Given the description of an element on the screen output the (x, y) to click on. 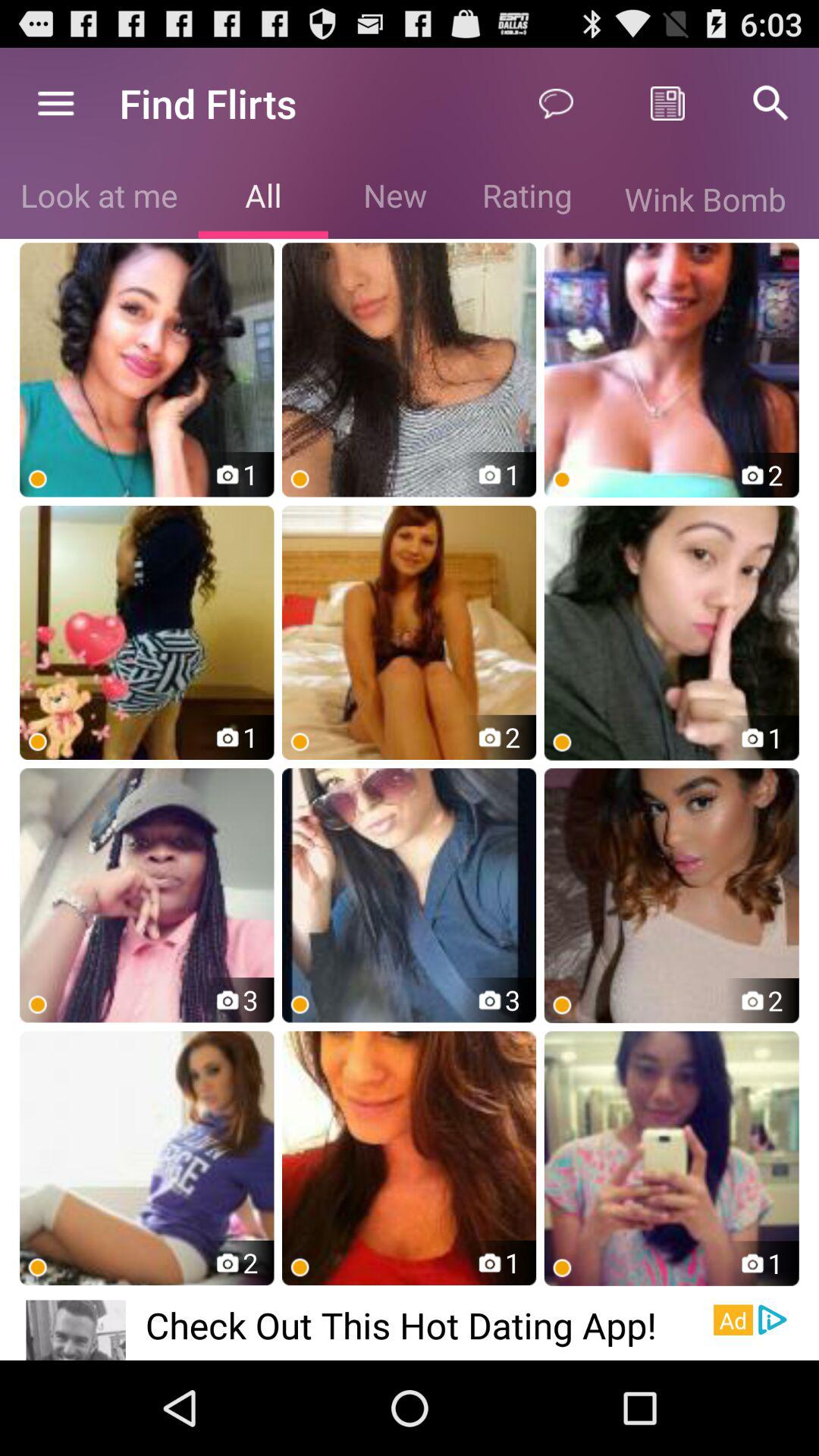
turn off the item to the left of wink bomb icon (527, 198)
